Given the description of an element on the screen output the (x, y) to click on. 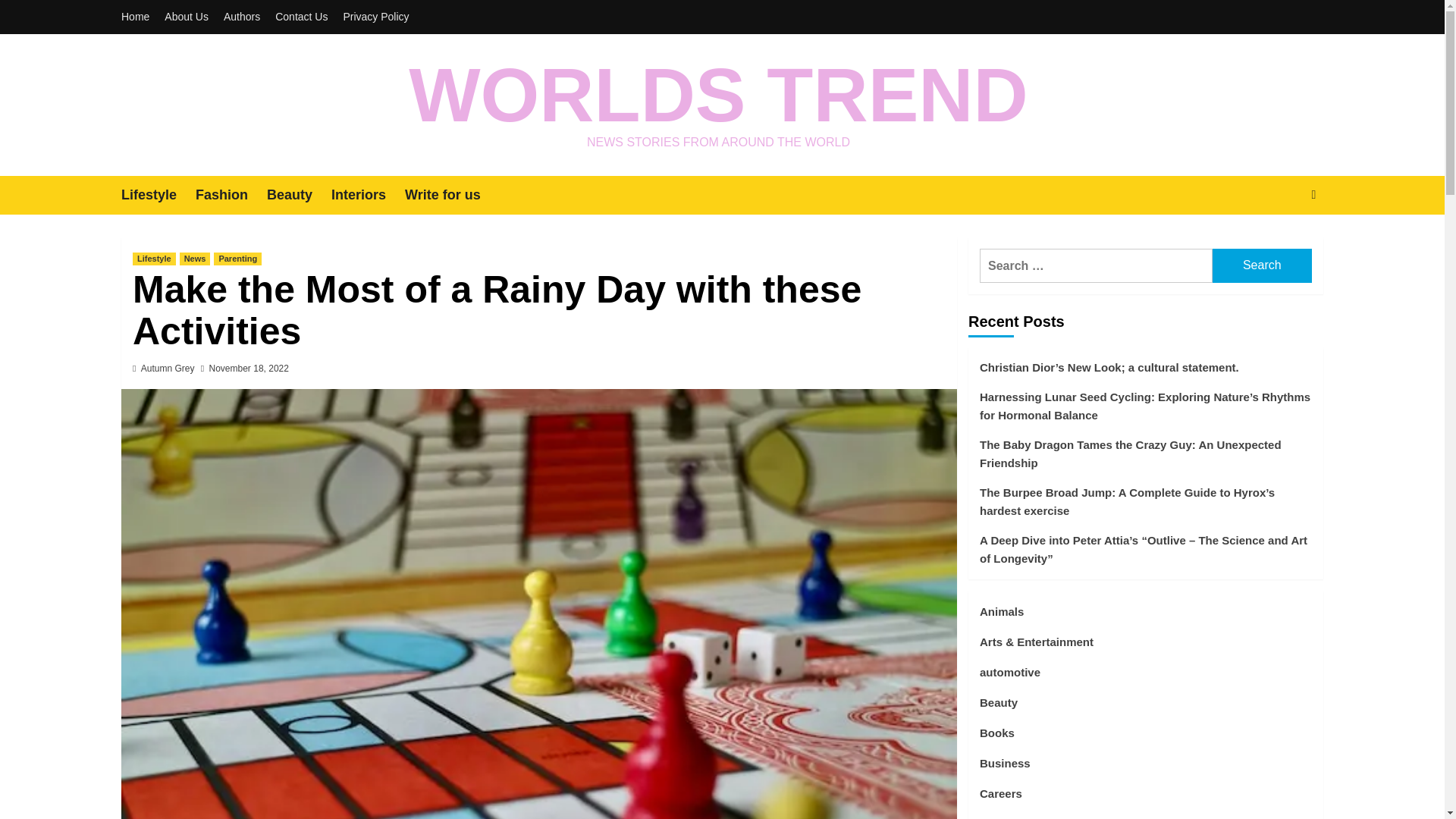
Parenting (238, 258)
Interiors (367, 195)
News (195, 258)
Search (1278, 241)
Fashion (230, 195)
Search (1261, 265)
November 18, 2022 (248, 368)
Search (1261, 265)
Privacy Policy (375, 17)
About Us (186, 17)
